Given the description of an element on the screen output the (x, y) to click on. 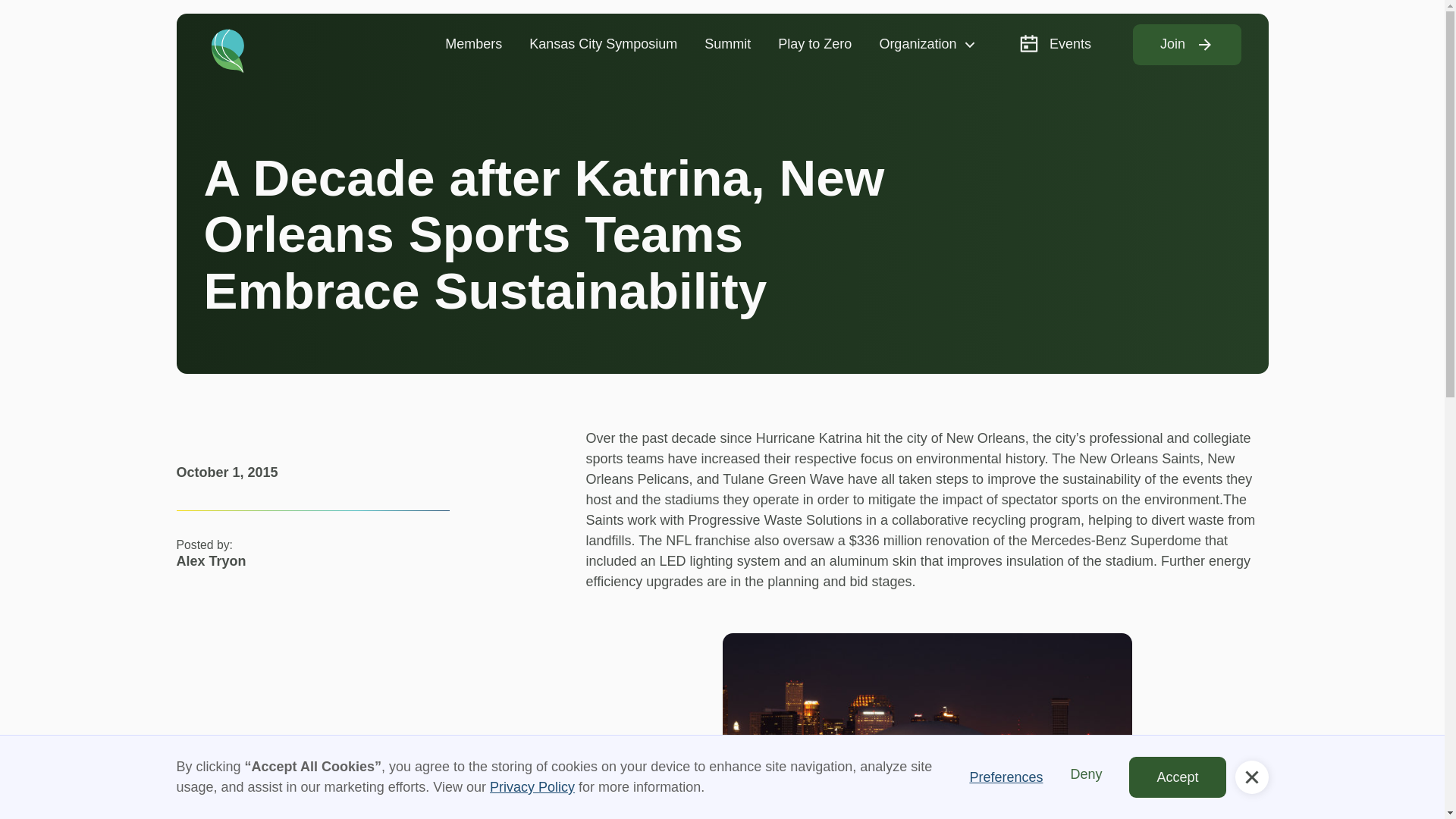
Events (1054, 43)
Join (1186, 44)
Kansas City Symposium (602, 44)
Members (472, 44)
Summit (727, 44)
Play to Zero (814, 44)
